Given the description of an element on the screen output the (x, y) to click on. 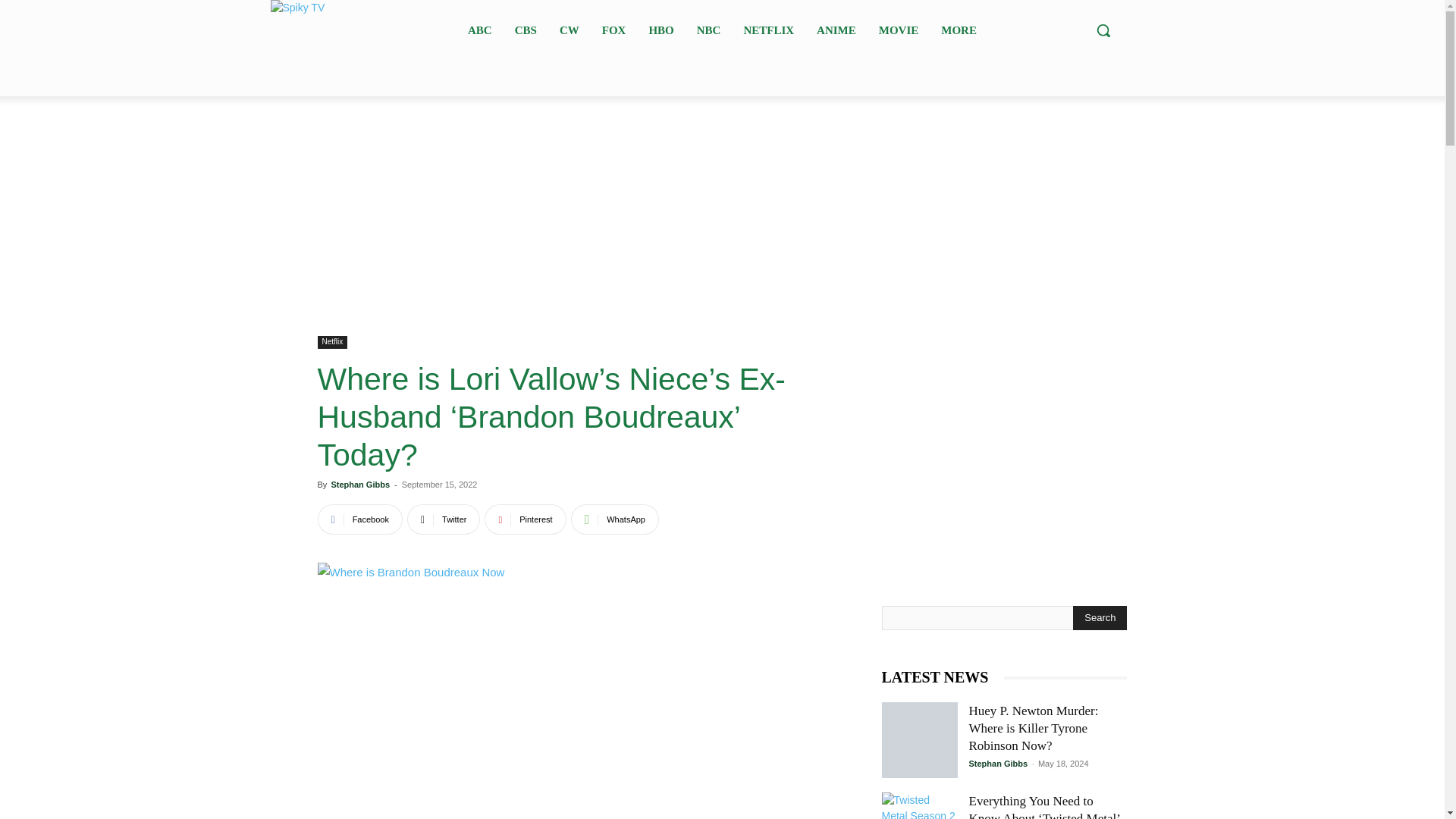
NETFLIX (768, 29)
Advertisement (593, 230)
CBS (525, 29)
HBO (660, 29)
MORE (958, 29)
Search (1099, 617)
Twitter (443, 519)
WhatsApp (614, 519)
ANIME (836, 29)
Pinterest (525, 519)
